Given the description of an element on the screen output the (x, y) to click on. 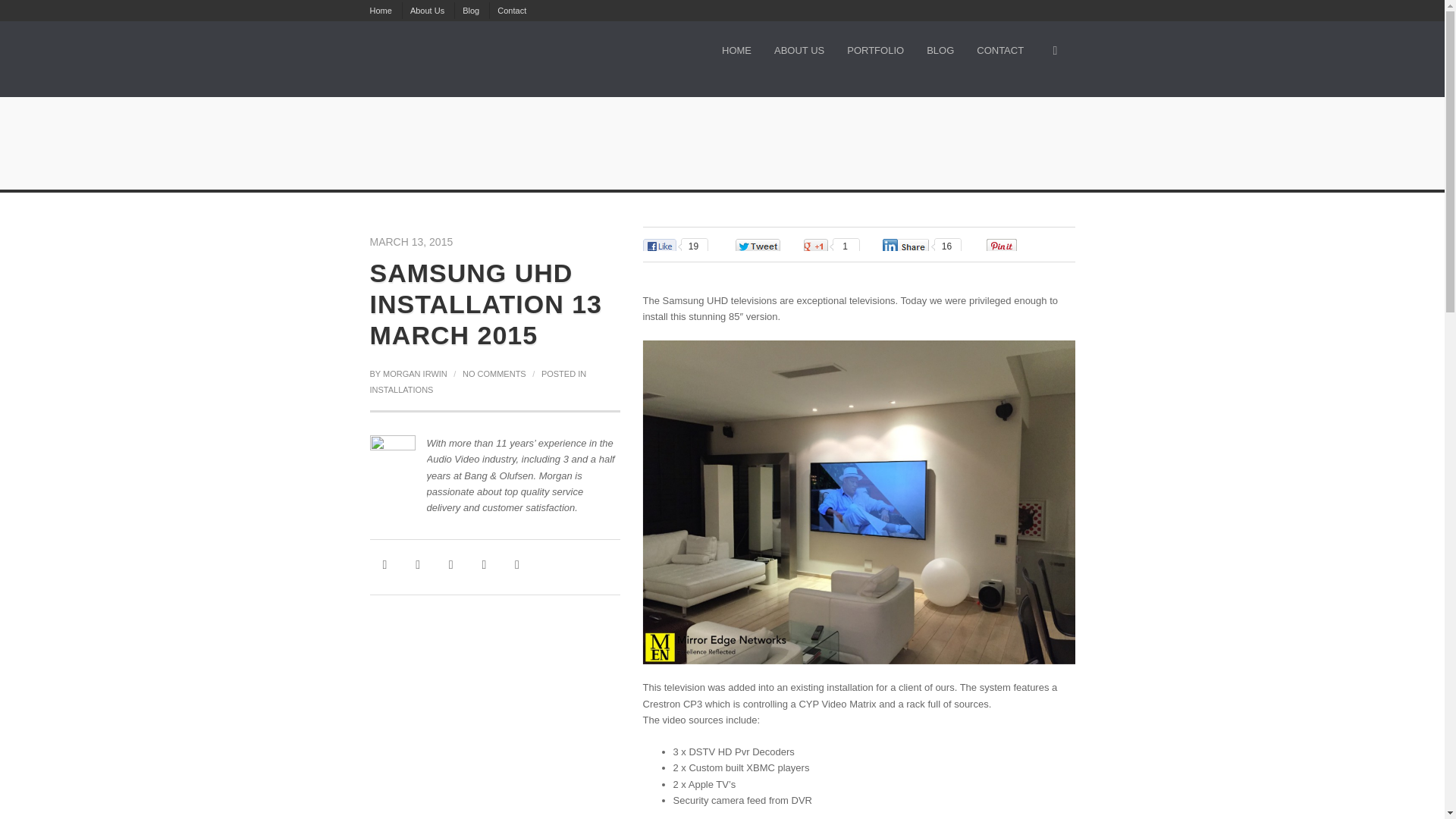
INSTALLATIONS (401, 388)
Blog (471, 10)
Be the first one to tweet this article! (773, 246)
NO COMMENTS (494, 373)
19 (676, 246)
Home (380, 10)
Share on Tumblr (483, 564)
ABOUT US (799, 48)
Permalink to Samsung UHD Installation 13 March 2015 (485, 303)
16 (922, 246)
